Given the description of an element on the screen output the (x, y) to click on. 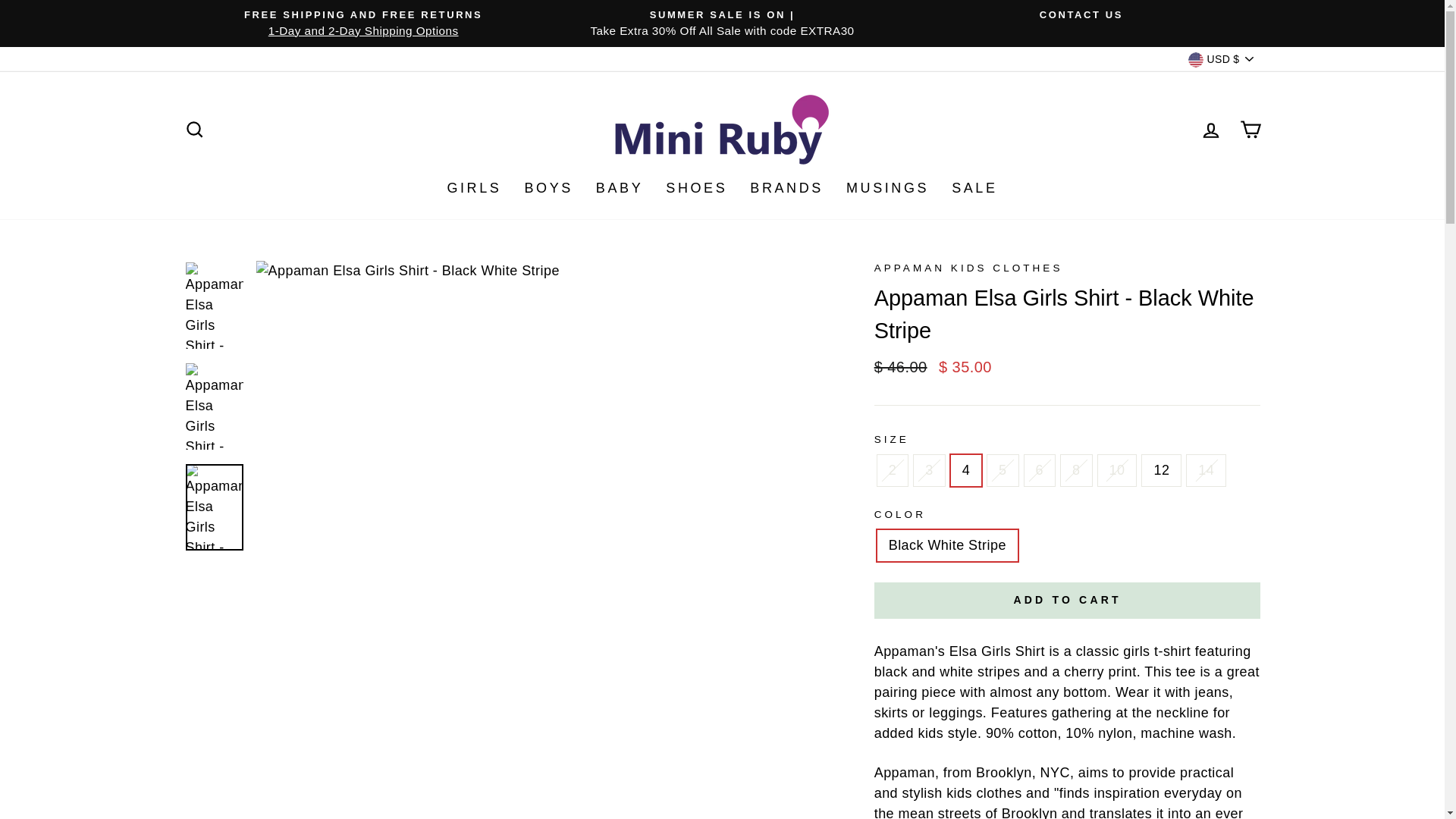
Girls Leggings (955, 712)
Appaman Kids Clothes (984, 792)
Appaman Elsa Girls Shirt - Black White Stripe (962, 651)
Appaman Kids Clothes (904, 772)
